Given the description of an element on the screen output the (x, y) to click on. 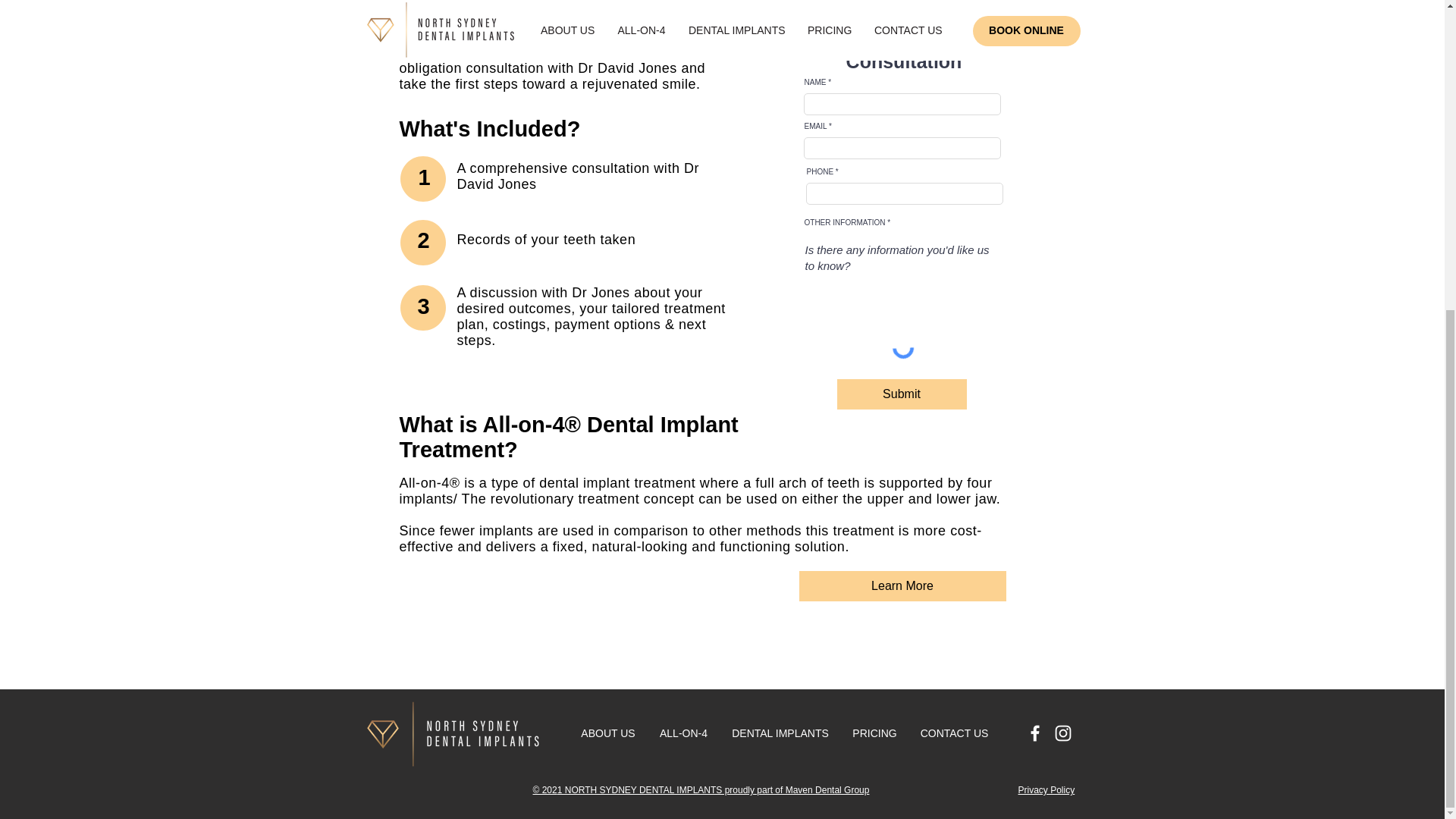
PRICING (874, 733)
ALL-ON-4 (683, 733)
Submit (901, 394)
Learn More (902, 585)
CONTACT US (953, 733)
Privacy Policy (1045, 789)
ABOUT US (607, 733)
DENTAL IMPLANTS (780, 733)
